Given the description of an element on the screen output the (x, y) to click on. 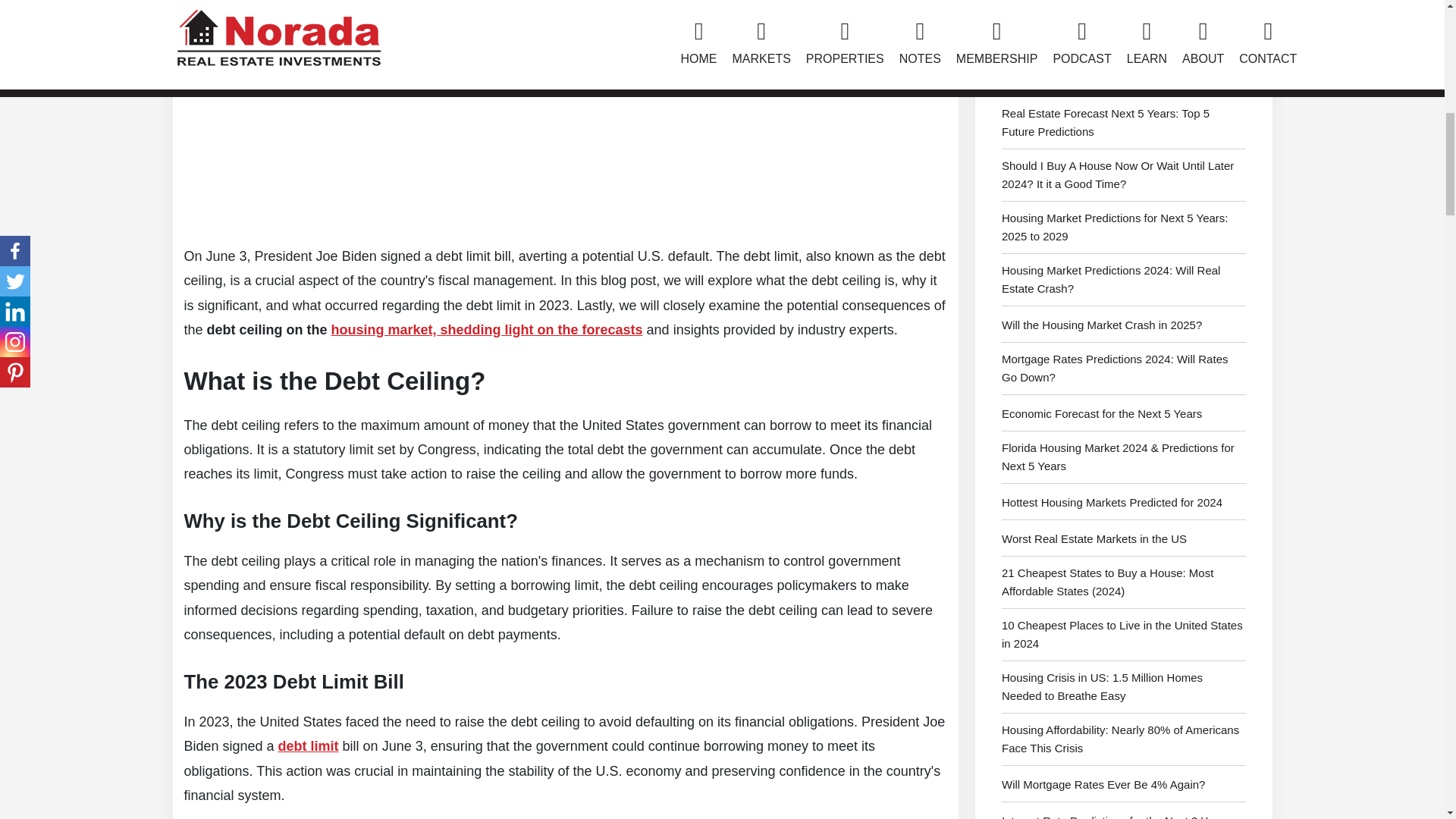
Housing Market Predictions 2024: Will Real Estate Crash? (1123, 283)
10 Cheapest Places to Live in the United States in 2024 (1123, 638)
Interest Rate Predictions for the Next 3 Years (1123, 815)
Economic Forecast for the Next 5 Years (1123, 417)
Will the Housing Market Crash in 2025? (1123, 329)
Hottest Housing Markets Predicted for 2024 (1123, 506)
Housing Market Predictions for Next 5 Years: 2025 to 2029 (1123, 231)
Real Estate Forecast Next 5 Years: Top 5 Future Predictions (1123, 126)
